Given the description of an element on the screen output the (x, y) to click on. 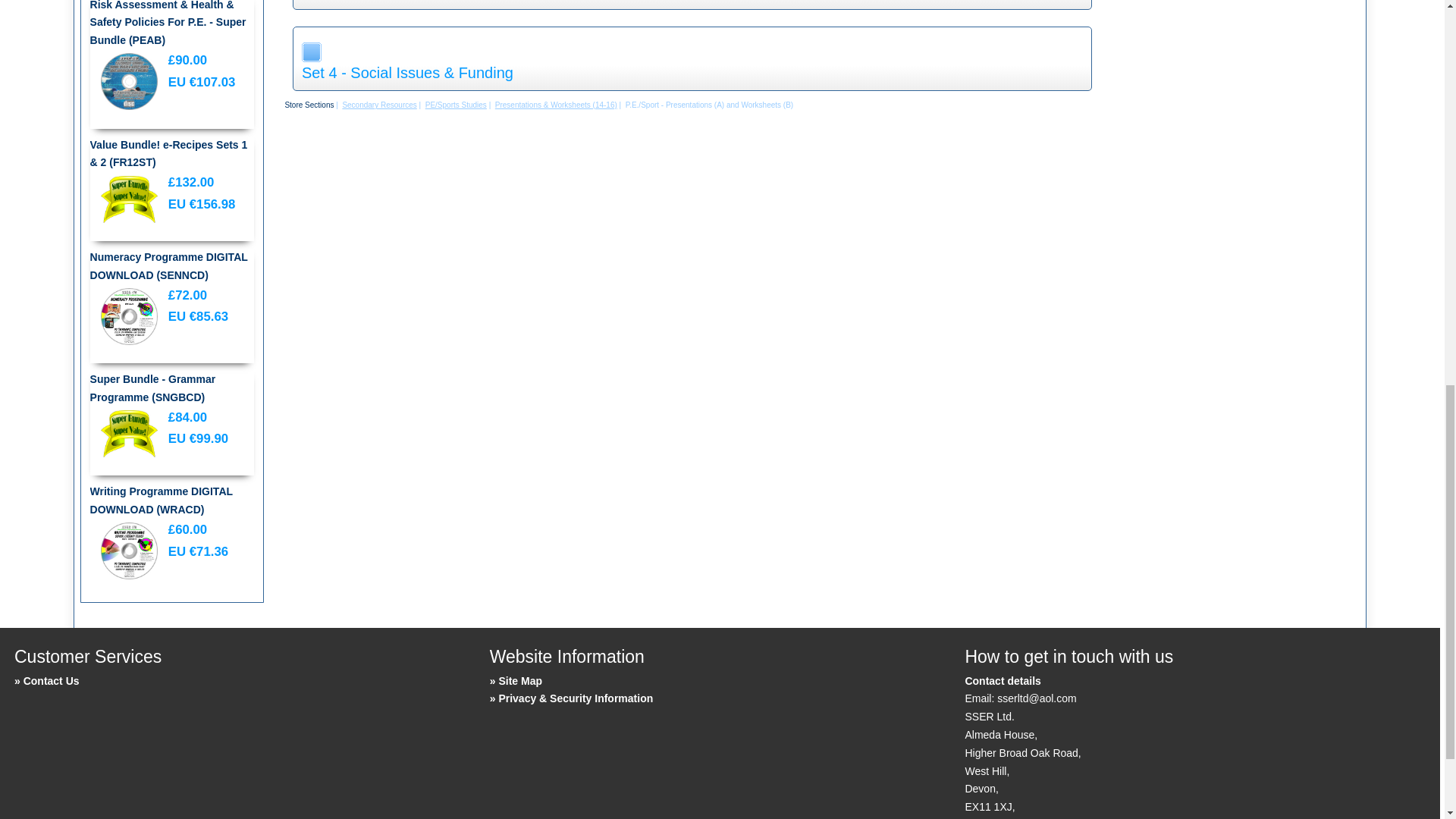
Store Sections (308, 104)
Secondary Resources (379, 104)
